Given the description of an element on the screen output the (x, y) to click on. 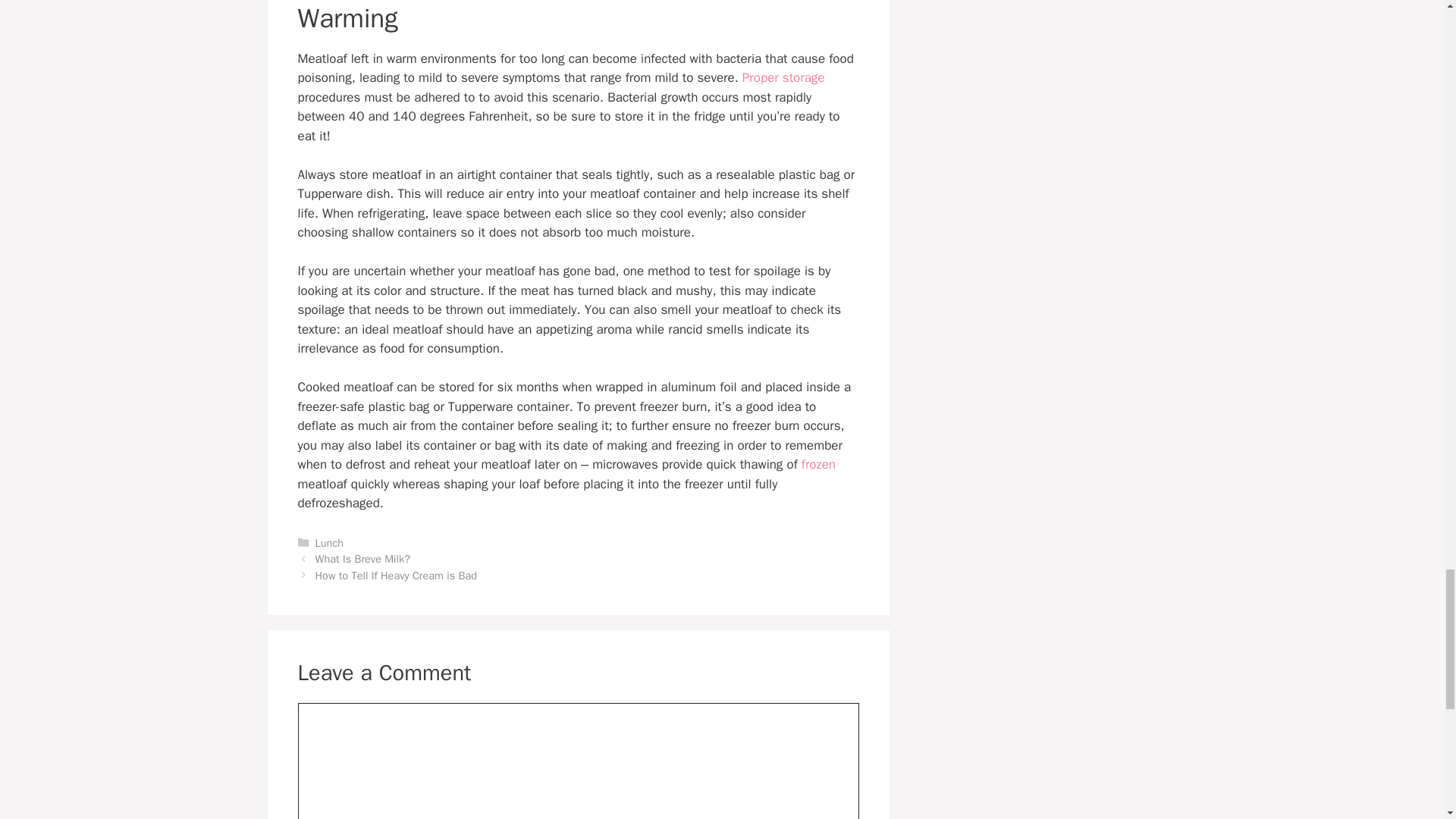
Lunch (329, 542)
Next (396, 575)
How to Tell If Heavy Cream is Bad (396, 575)
frozen (818, 464)
What Is Breve Milk? (362, 558)
Previous (362, 558)
Proper storage (783, 77)
